Given the description of an element on the screen output the (x, y) to click on. 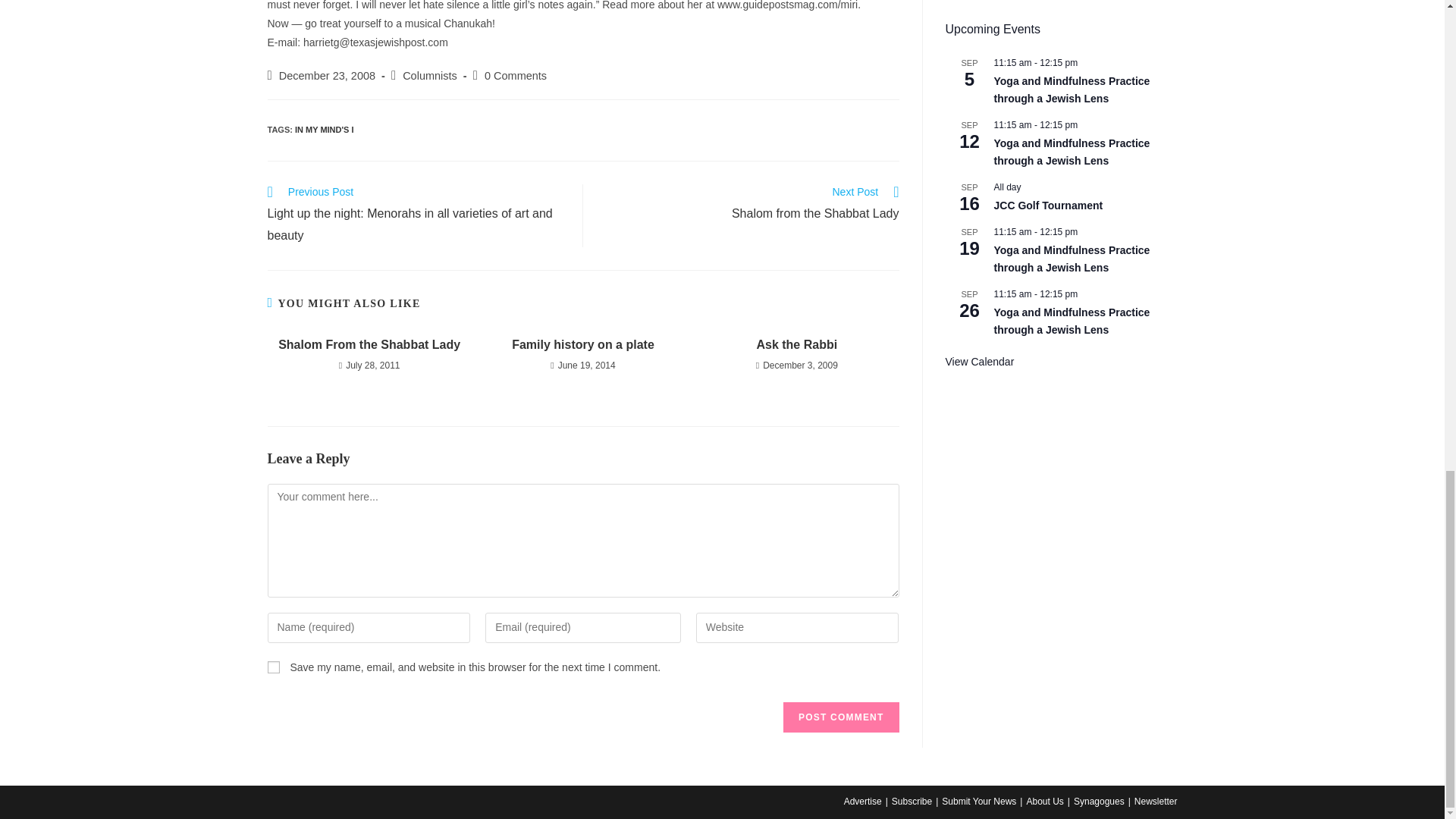
View more events. (978, 361)
Yoga and Mindfulness Practice through a Jewish Lens (1071, 90)
Yoga and Mindfulness Practice through a Jewish Lens (1071, 152)
Post Comment (840, 716)
Yoga and Mindfulness Practice through a Jewish Lens (1071, 321)
yes (272, 666)
Yoga and Mindfulness Practice through a Jewish Lens (1071, 259)
JCC Golf Tournament (1047, 205)
